Given the description of an element on the screen output the (x, y) to click on. 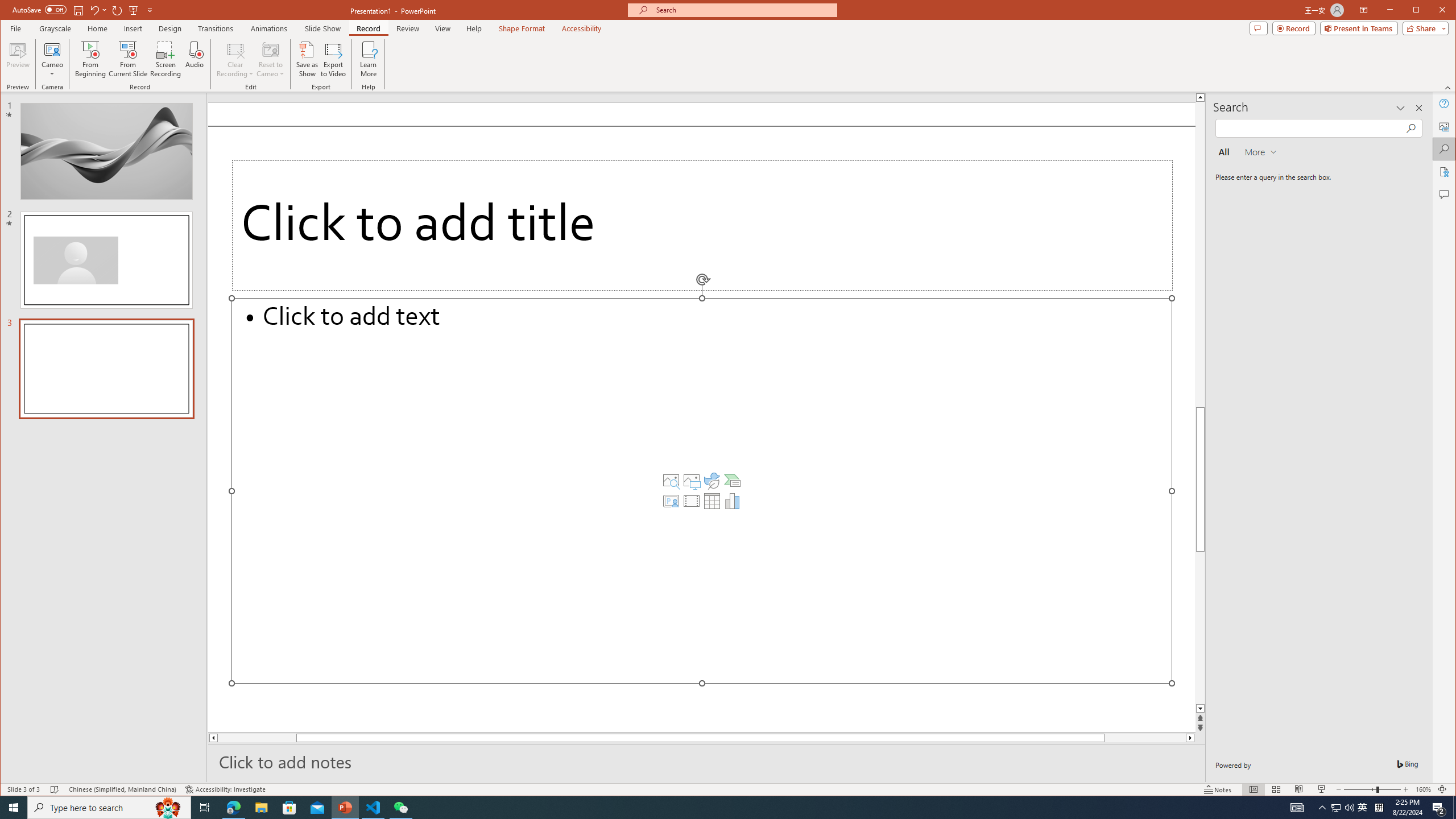
Content Placeholder (701, 490)
Zoom 160% (1422, 789)
